Given the description of an element on the screen output the (x, y) to click on. 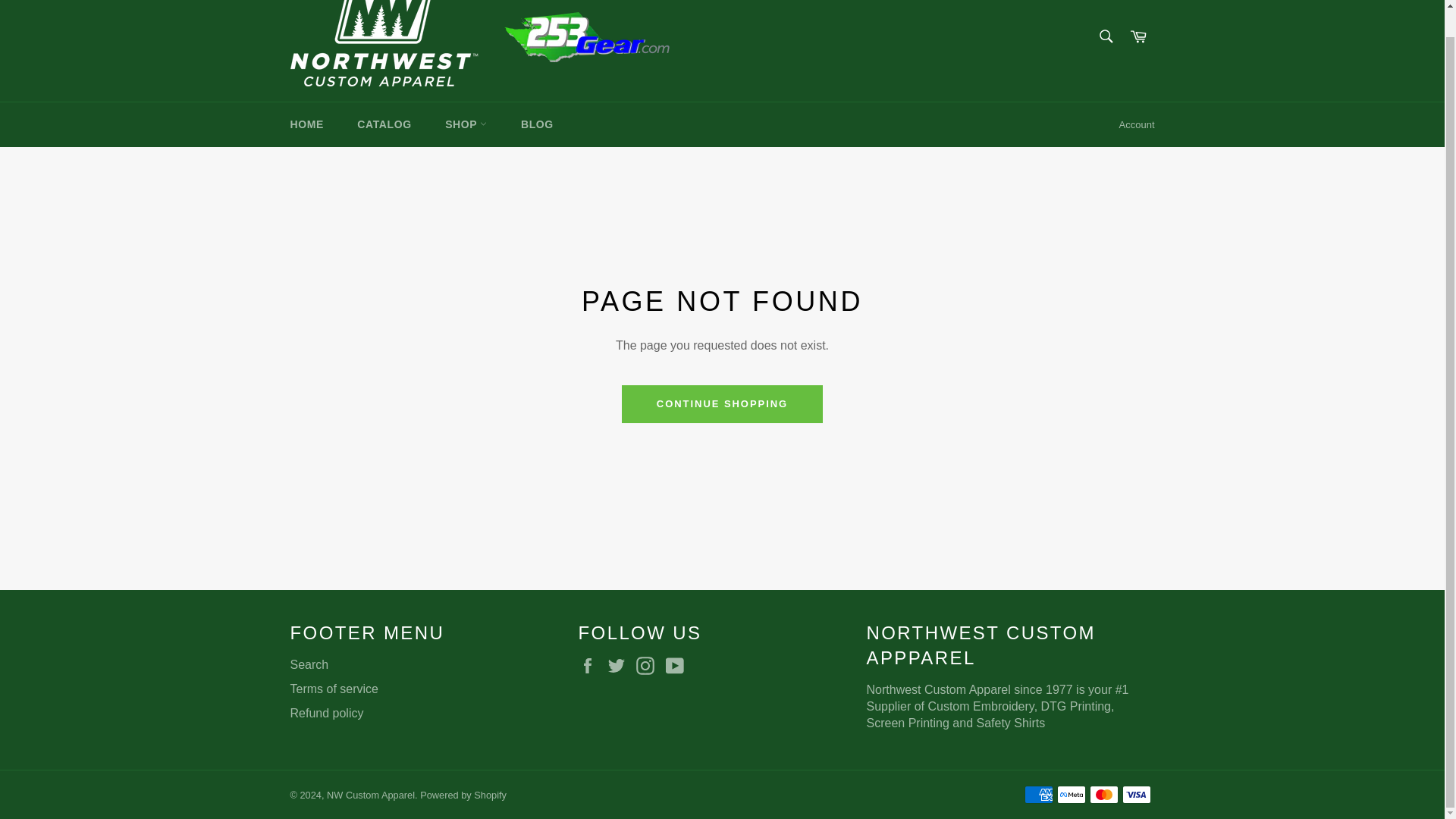
Cart (1138, 36)
NW Custom Apparel on YouTube (678, 665)
HOME (306, 124)
CATALOG (384, 124)
SHOP (465, 124)
Search (309, 664)
BLOG (537, 124)
CONTINUE SHOPPING (721, 403)
NW Custom Apparel on Instagram (649, 665)
NW Custom Apparel on Facebook (591, 665)
Terms of service (333, 688)
NW Custom Apparel on Twitter (620, 665)
Refund policy (325, 712)
Account (1136, 125)
Search (1104, 35)
